Given the description of an element on the screen output the (x, y) to click on. 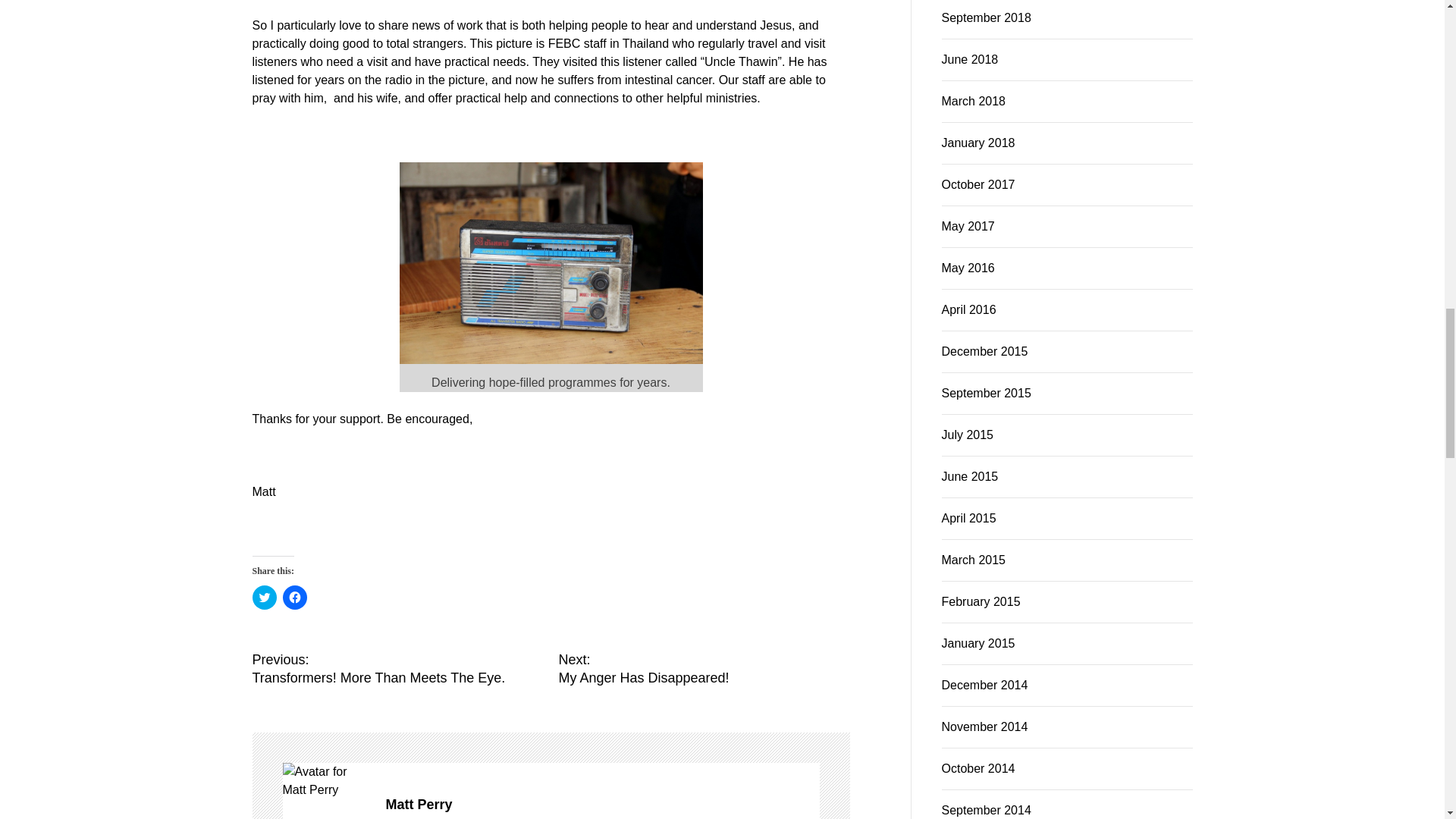
In Lockdown and confusion, remember this. (541, 780)
Matt Perry (601, 506)
Click to share on Facebook (397, 370)
Matt Perry (293, 299)
Matt Perry (702, 370)
Practice Practice Practice (601, 506)
Click to share on Twitter (325, 483)
